Given the description of an element on the screen output the (x, y) to click on. 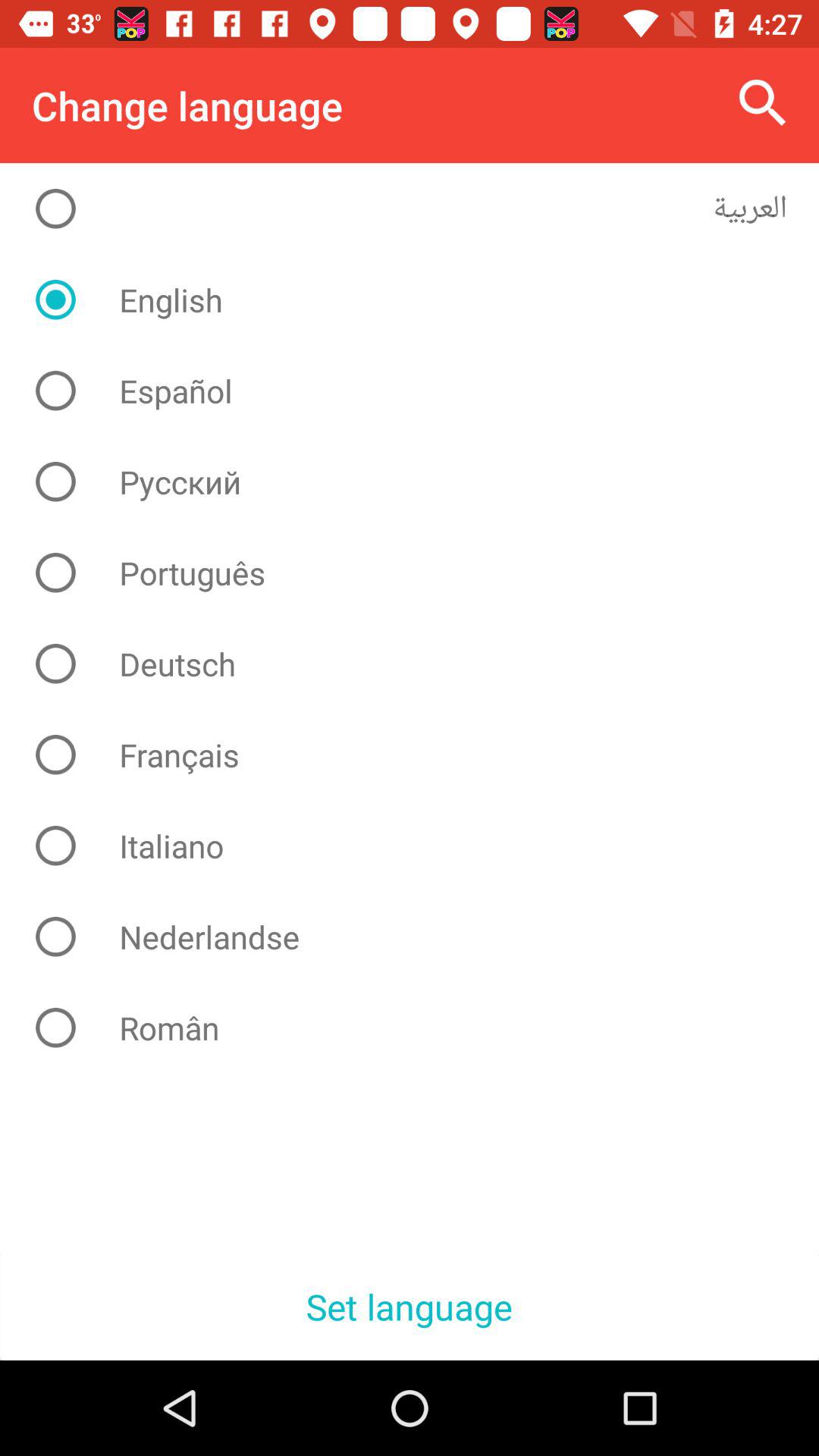
launch nederlandse item (421, 936)
